Given the description of an element on the screen output the (x, y) to click on. 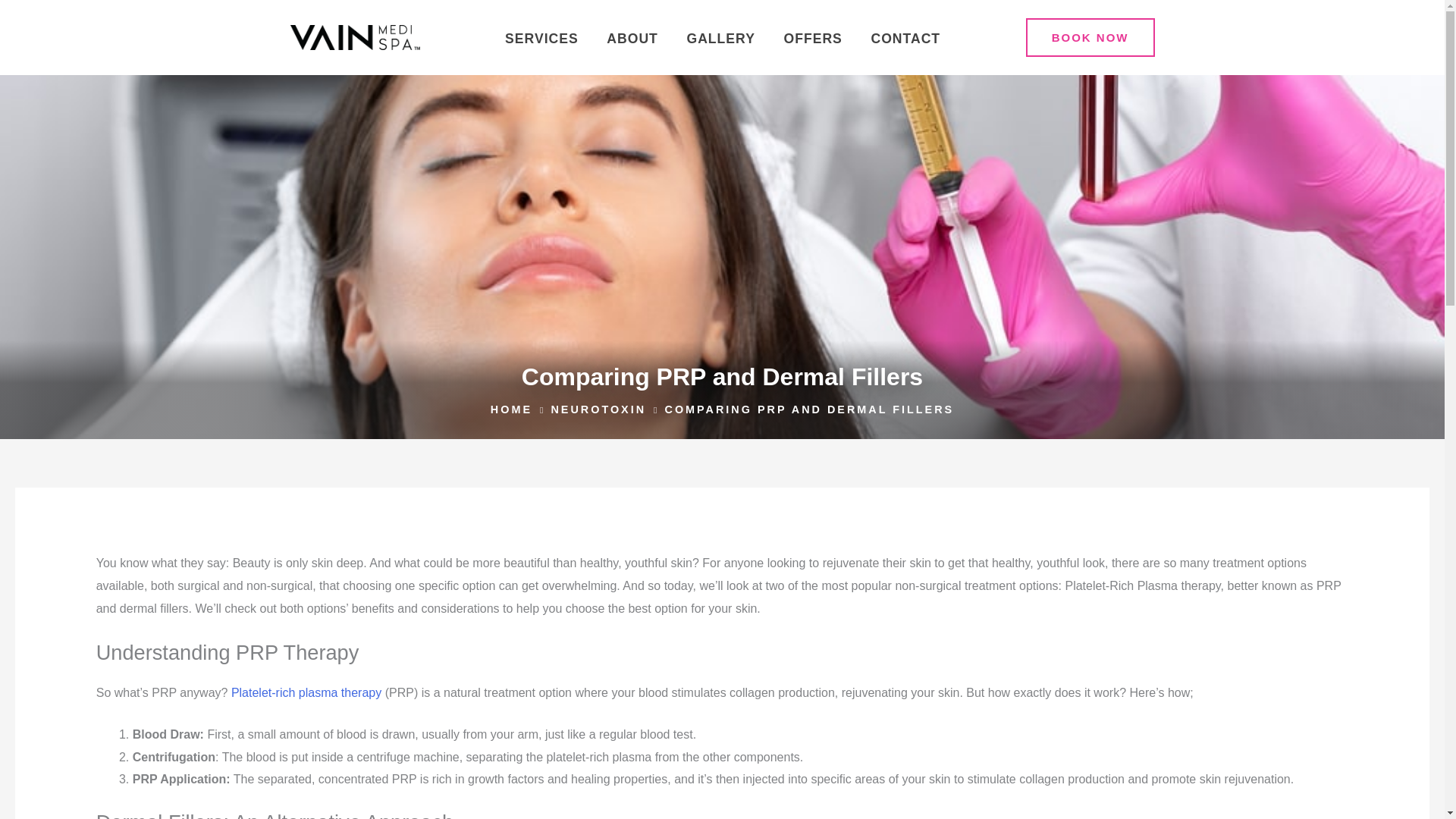
SERVICES (541, 38)
ABOUT (631, 38)
Neurotoxin (598, 409)
Home (511, 409)
